Given the description of an element on the screen output the (x, y) to click on. 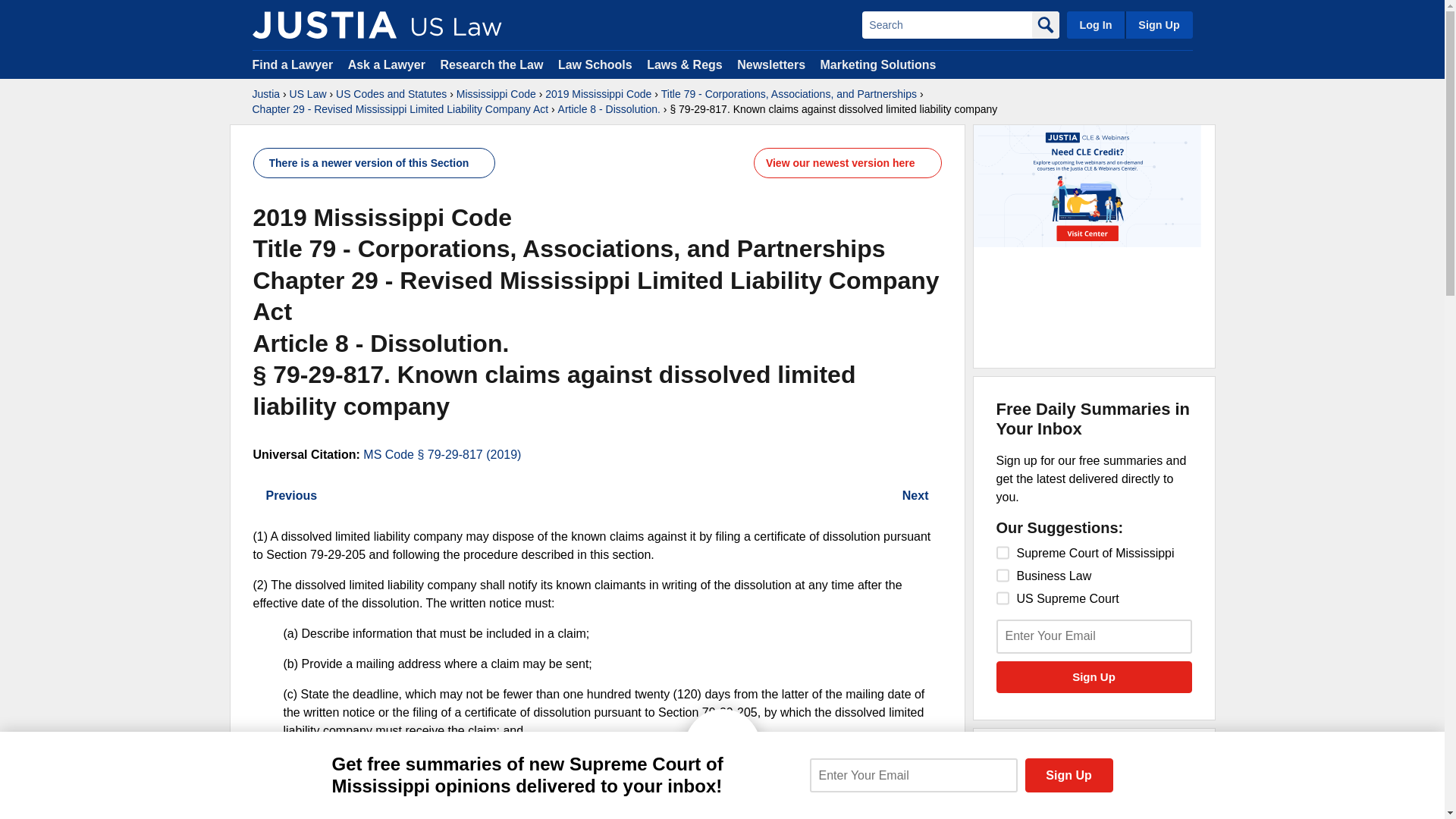
Search (945, 24)
Mississippi Code (496, 93)
Find a Lawyer (292, 64)
Article 8 - Dissolution. (609, 109)
US Law (307, 93)
Justia (323, 24)
View our newest version here (840, 162)
right (257, 495)
Toggle (721, 720)
Law Schools (594, 64)
Sign Up (1093, 676)
Justia (265, 93)
Newsletters (770, 64)
Log In (1094, 24)
